Given the description of an element on the screen output the (x, y) to click on. 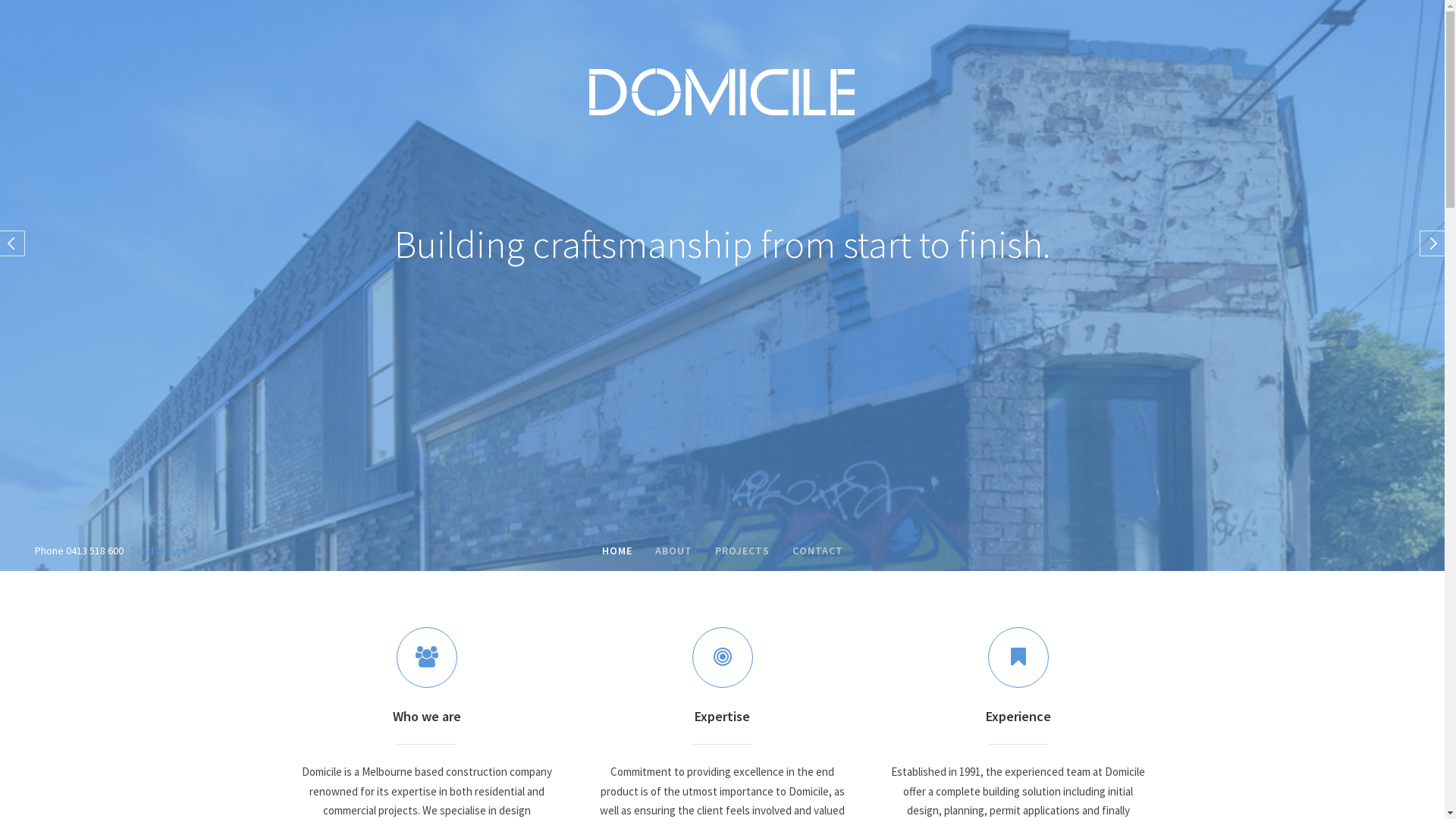
ABOUT Element type: text (672, 551)
Send an email Element type: text (161, 550)
HOME Element type: text (616, 551)
PROJECTS Element type: text (742, 551)
CONTACT Element type: text (817, 551)
